Given the description of an element on the screen output the (x, y) to click on. 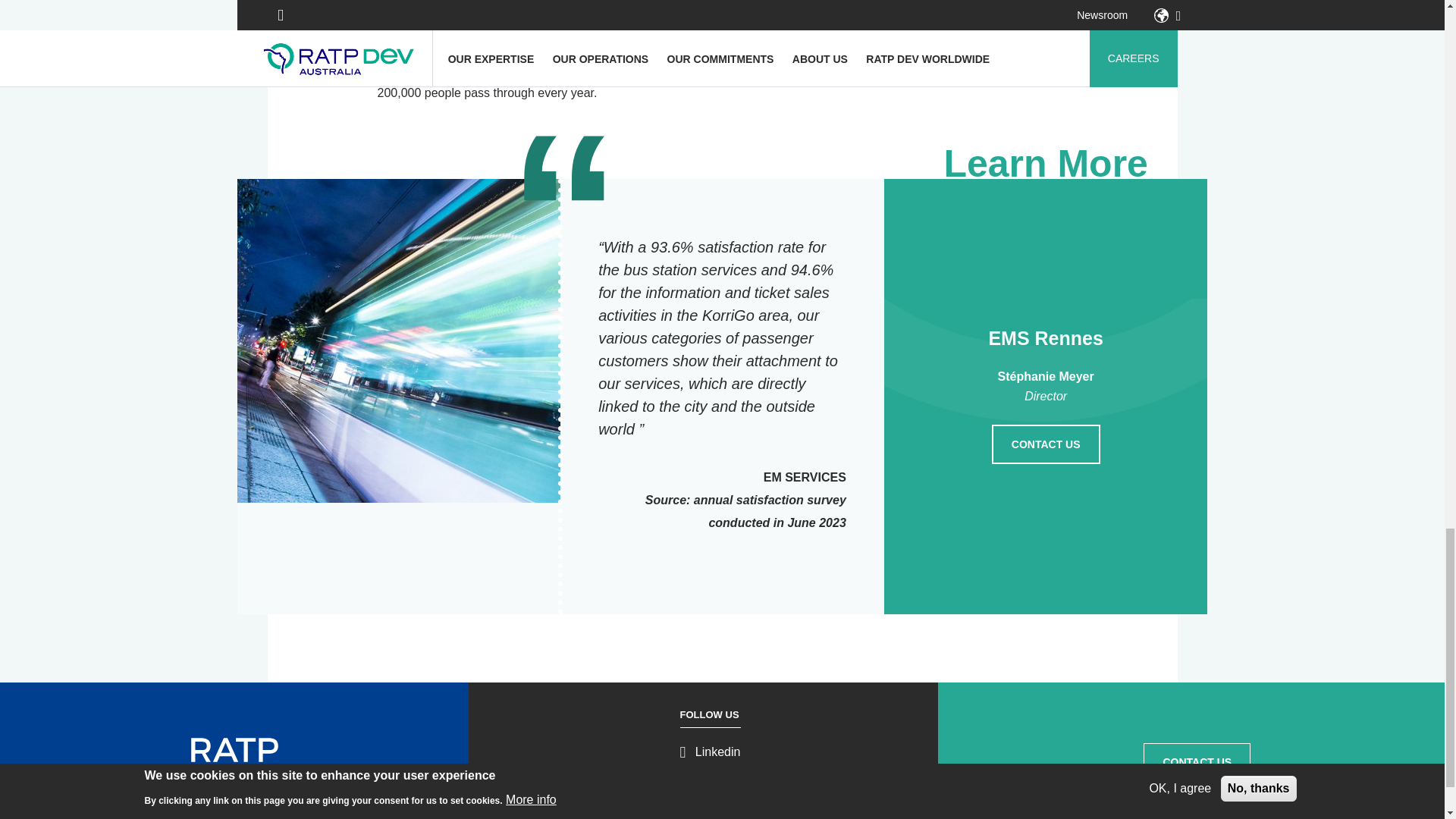
CONTACT US (1196, 761)
CONTACT US (1045, 444)
Linkedin (710, 751)
